Given the description of an element on the screen output the (x, y) to click on. 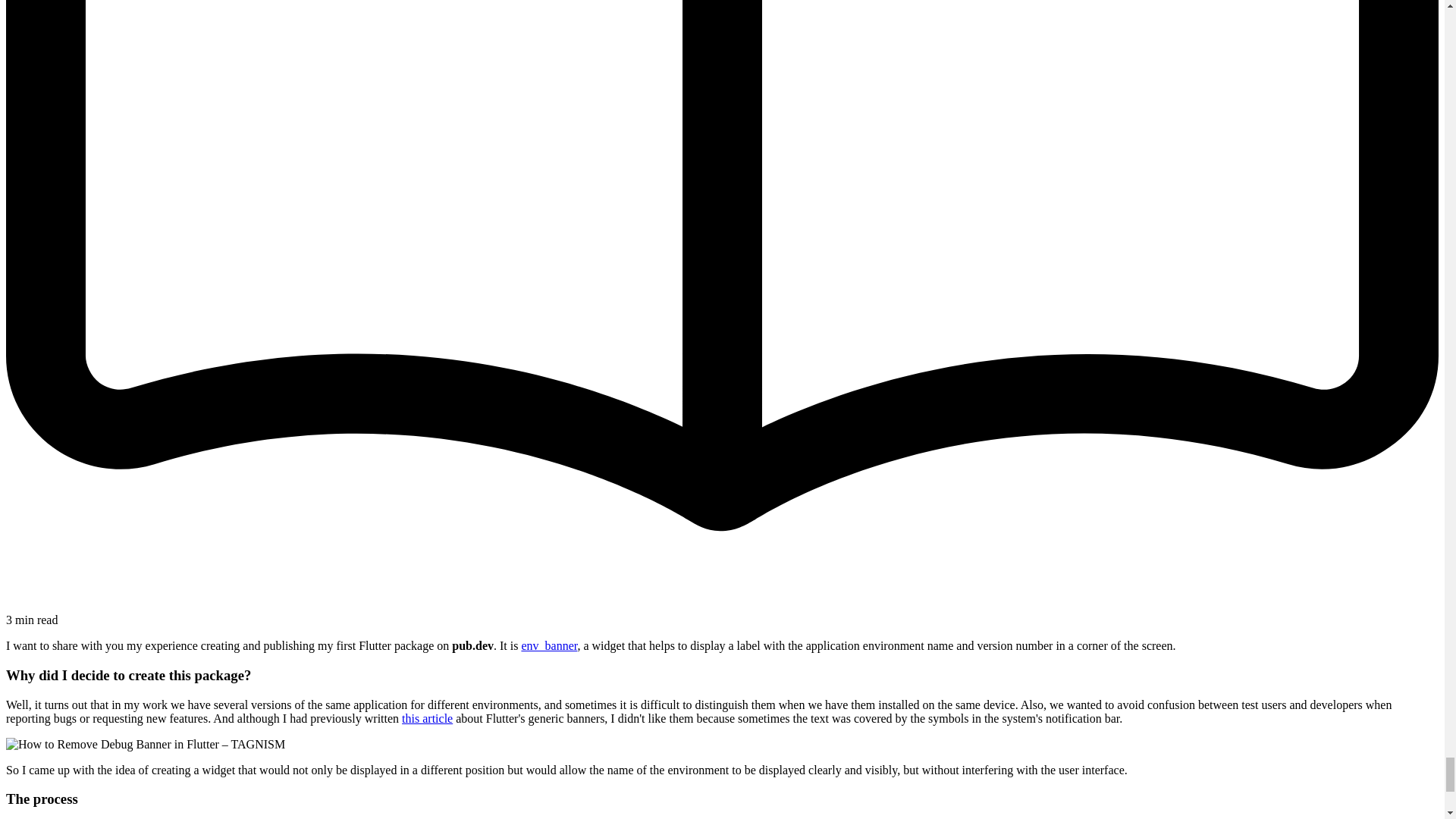
this article (426, 717)
